Given the description of an element on the screen output the (x, y) to click on. 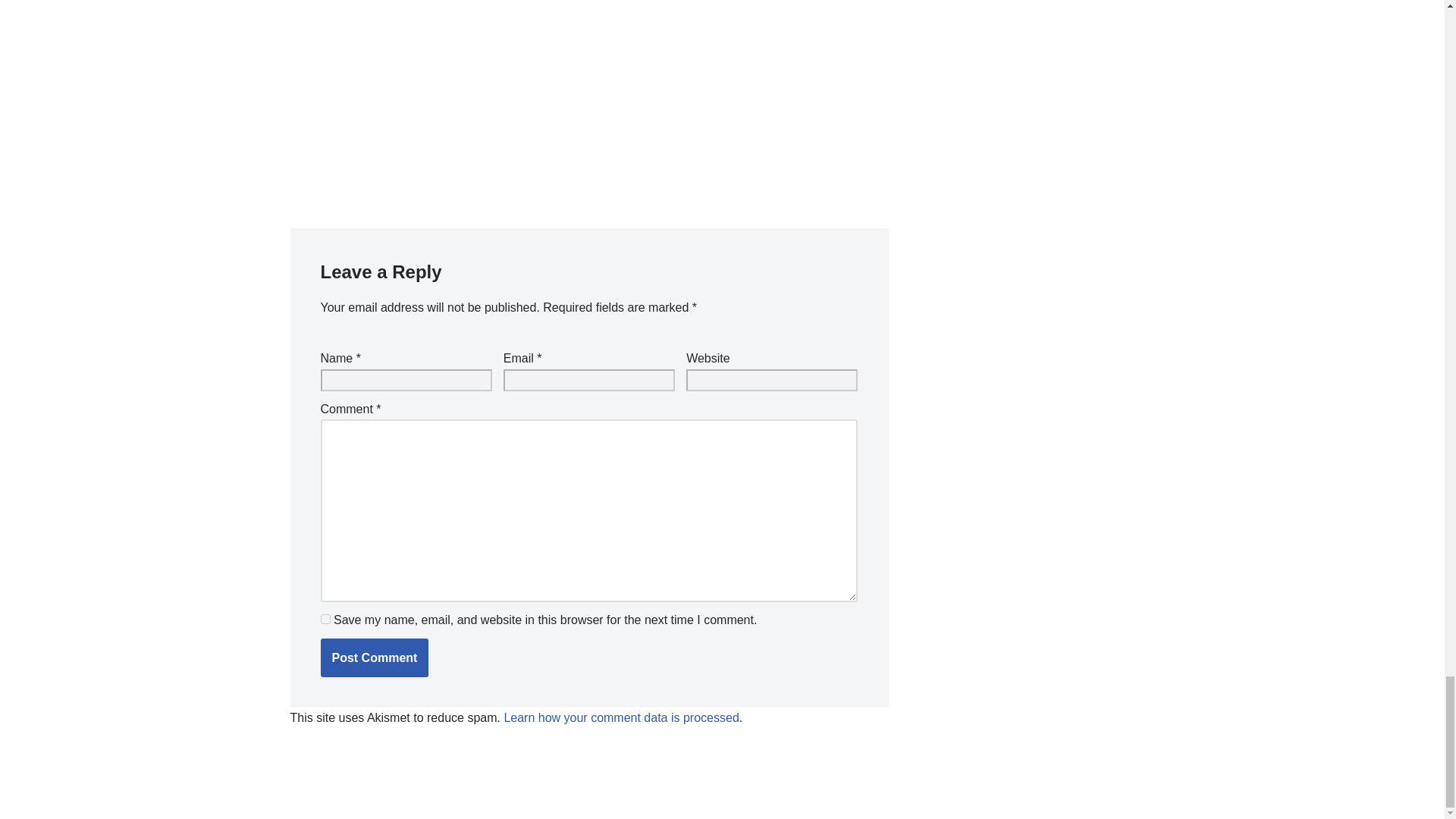
Post Comment (374, 658)
Learn how your comment data is processed (620, 717)
Post Comment (374, 658)
yes (325, 619)
